Given the description of an element on the screen output the (x, y) to click on. 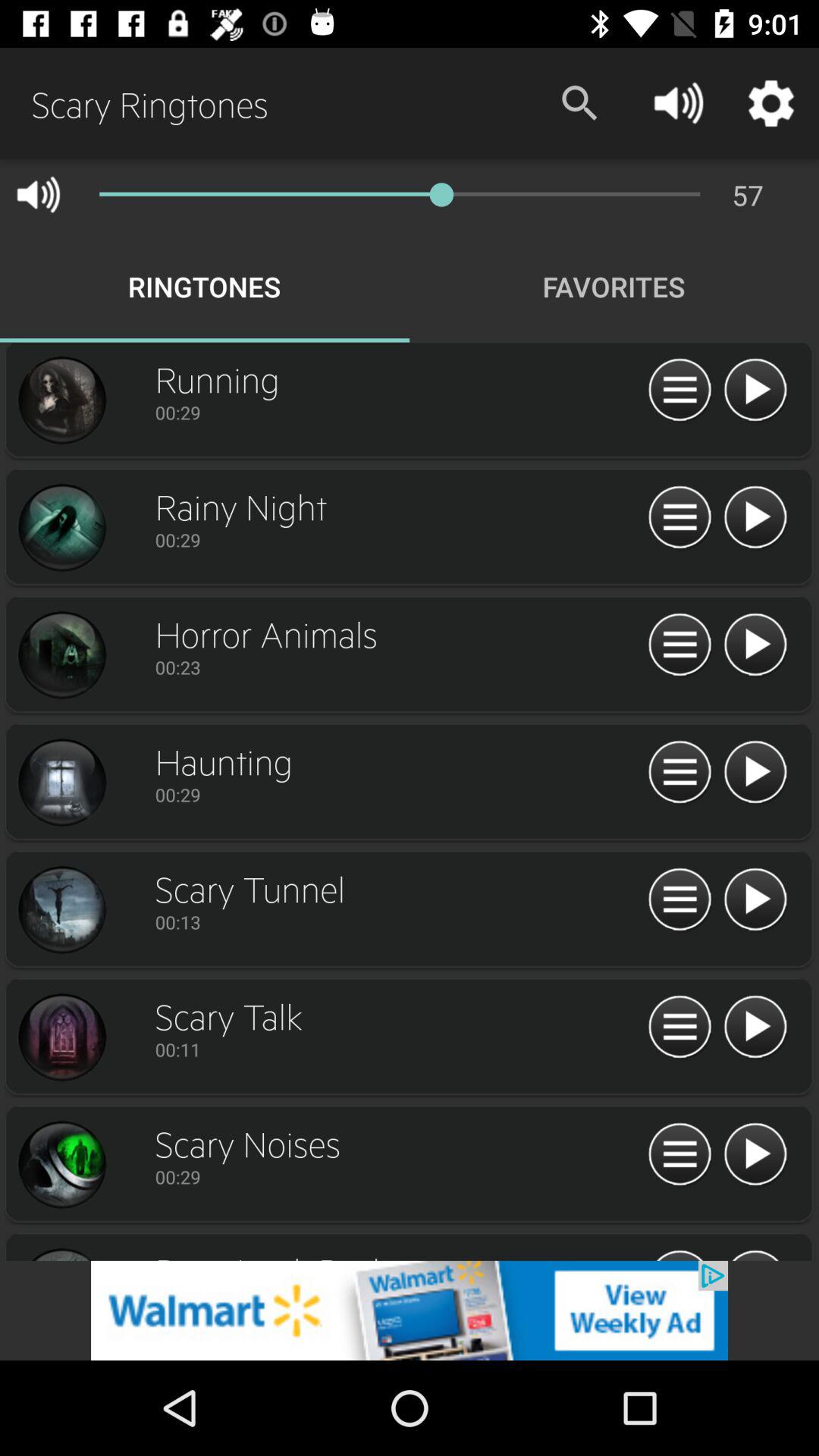
go to play (679, 645)
